Given the description of an element on the screen output the (x, y) to click on. 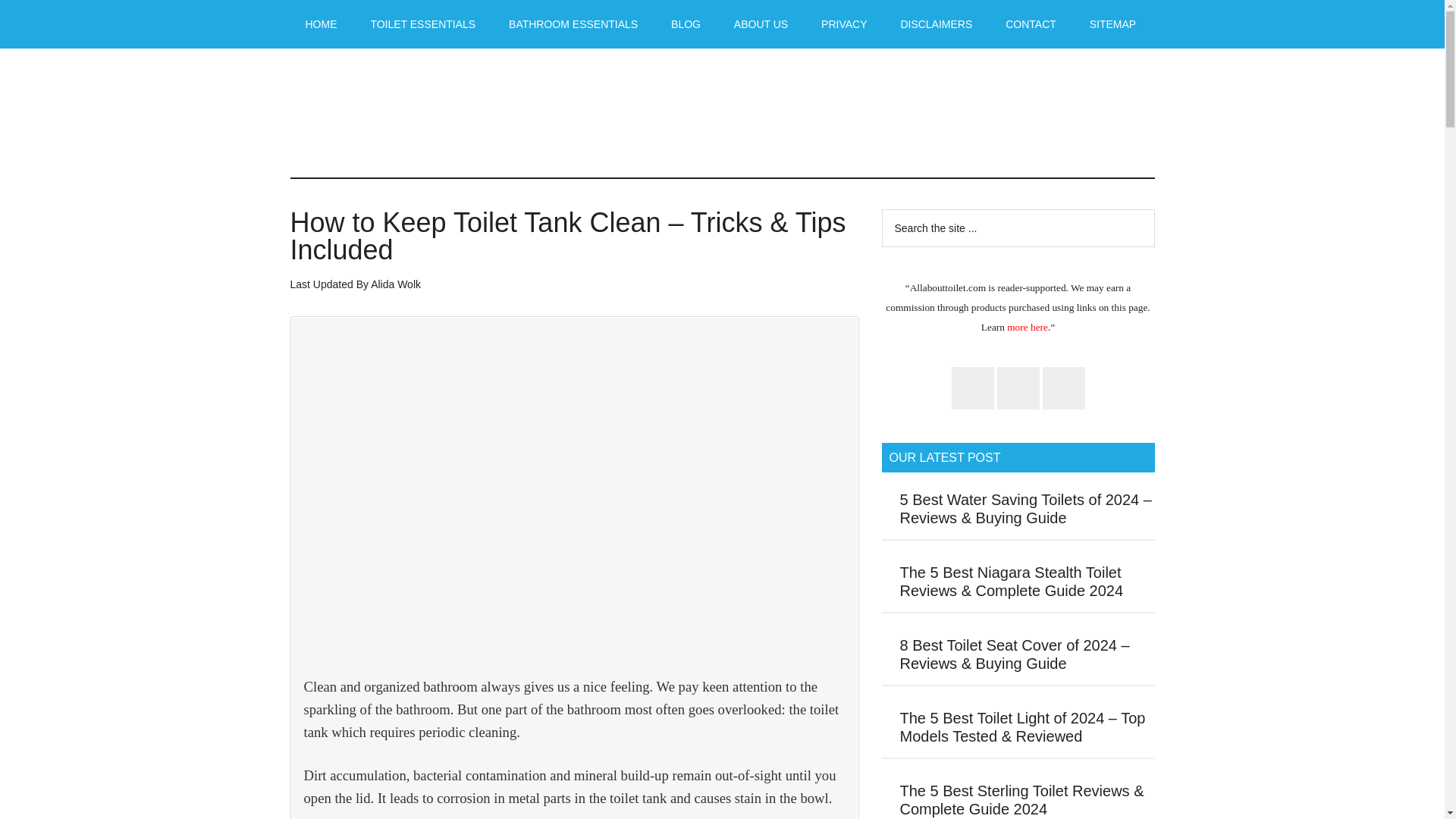
PRIVACY (844, 24)
All About Toilet (721, 112)
BATHROOM ESSENTIALS (572, 24)
HOME (320, 24)
DISCLAIMERS (936, 24)
ABOUT US (761, 24)
CONTACT (1030, 24)
TOILET ESSENTIALS (422, 24)
